Given the description of an element on the screen output the (x, y) to click on. 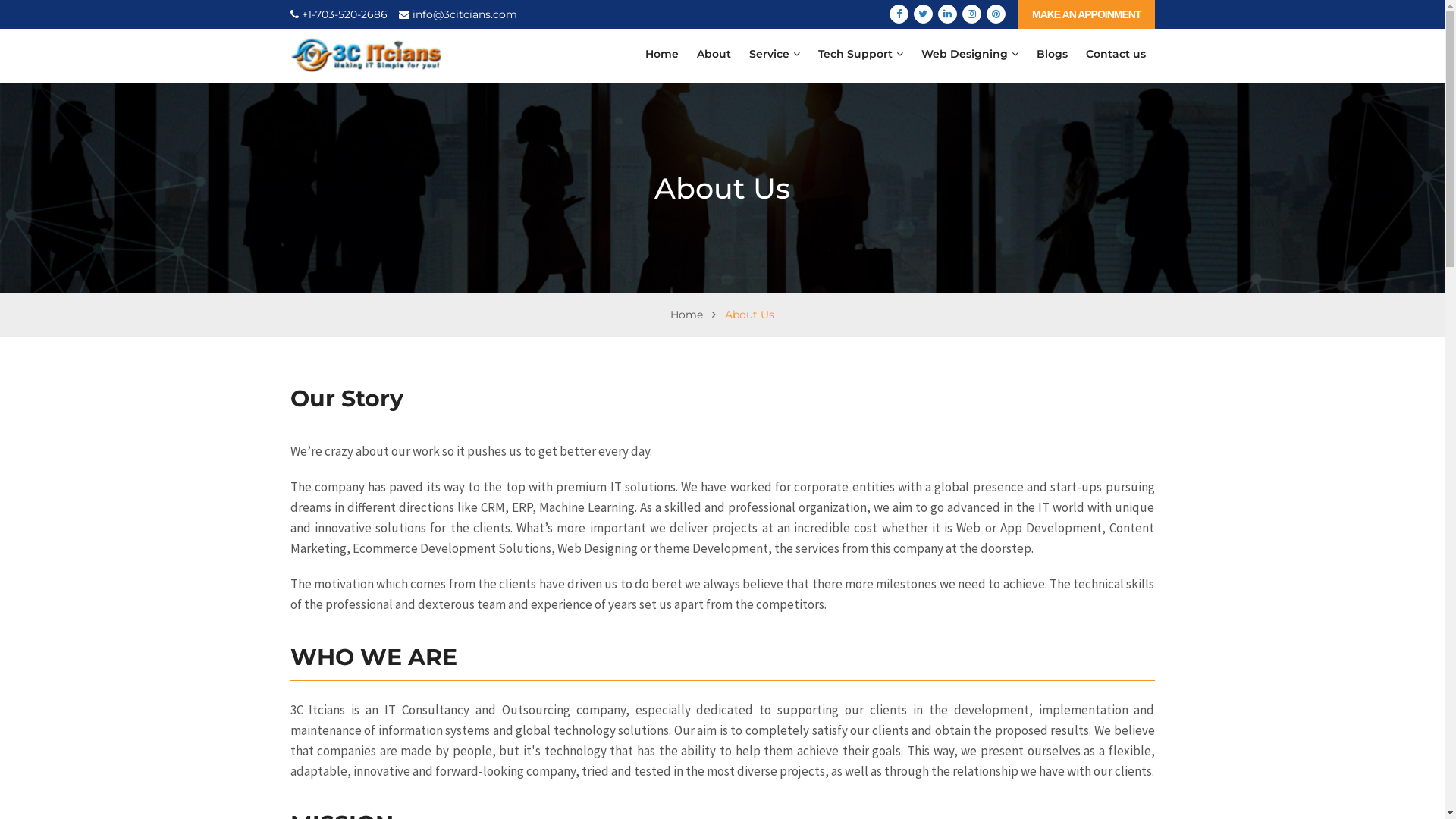
Home Element type: text (686, 314)
Web Designing Element type: text (968, 53)
Service Element type: text (774, 53)
+1-703-520-2686 Element type: text (337, 14)
About Element type: text (713, 53)
Tech Support Element type: text (859, 53)
info@3citcians.com Element type: text (457, 14)
MAKE AN APPOINMENT Element type: text (1086, 14)
Contact us Element type: text (1115, 53)
Blogs Element type: text (1051, 53)
Home Element type: text (661, 53)
